Given the description of an element on the screen output the (x, y) to click on. 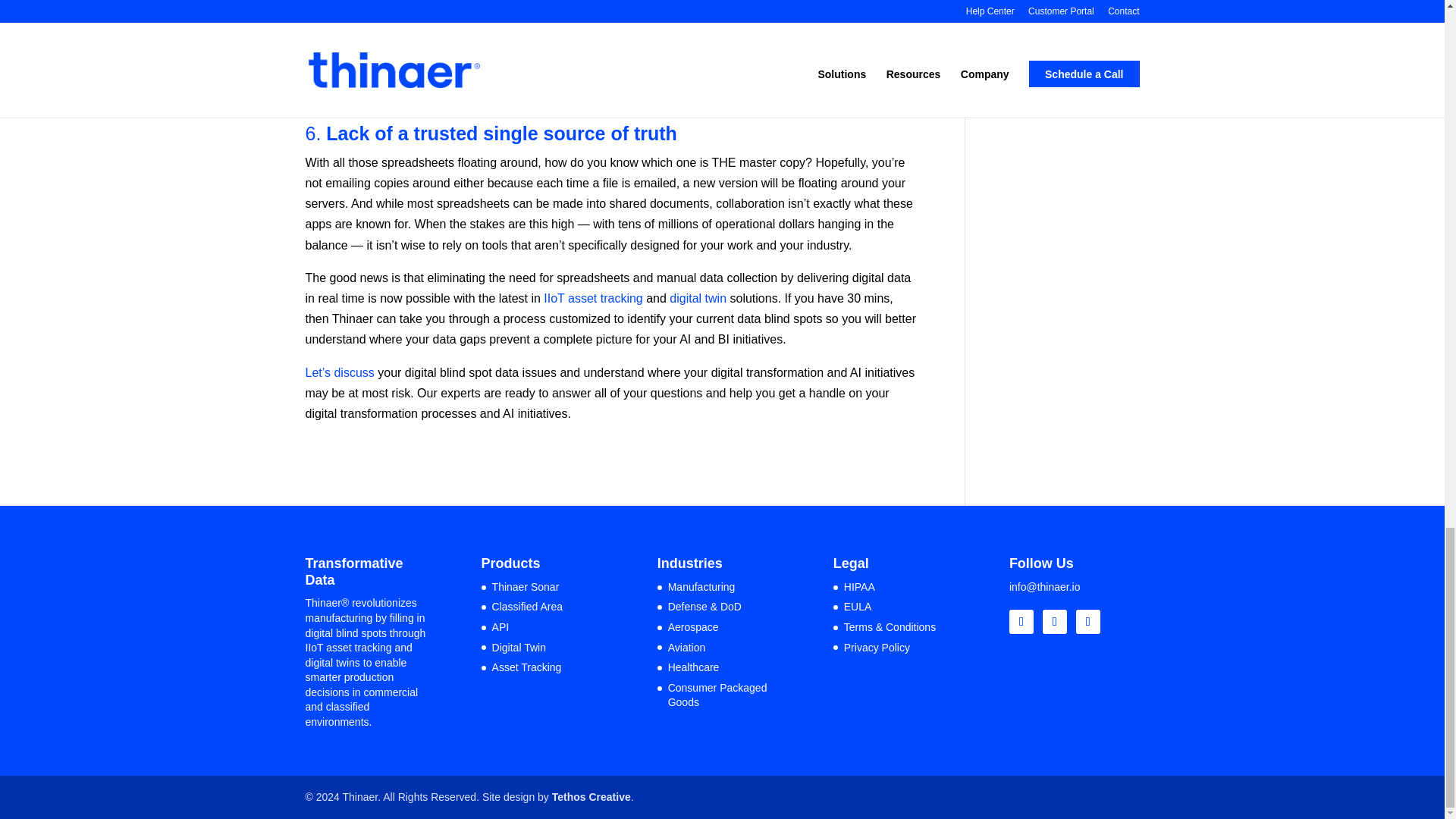
Follow on Youtube (1054, 621)
IIoT asset tracking (592, 297)
Follow on LinkedIn (1021, 621)
Follow on Youtube (1087, 621)
25 percent (524, 16)
